Given the description of an element on the screen output the (x, y) to click on. 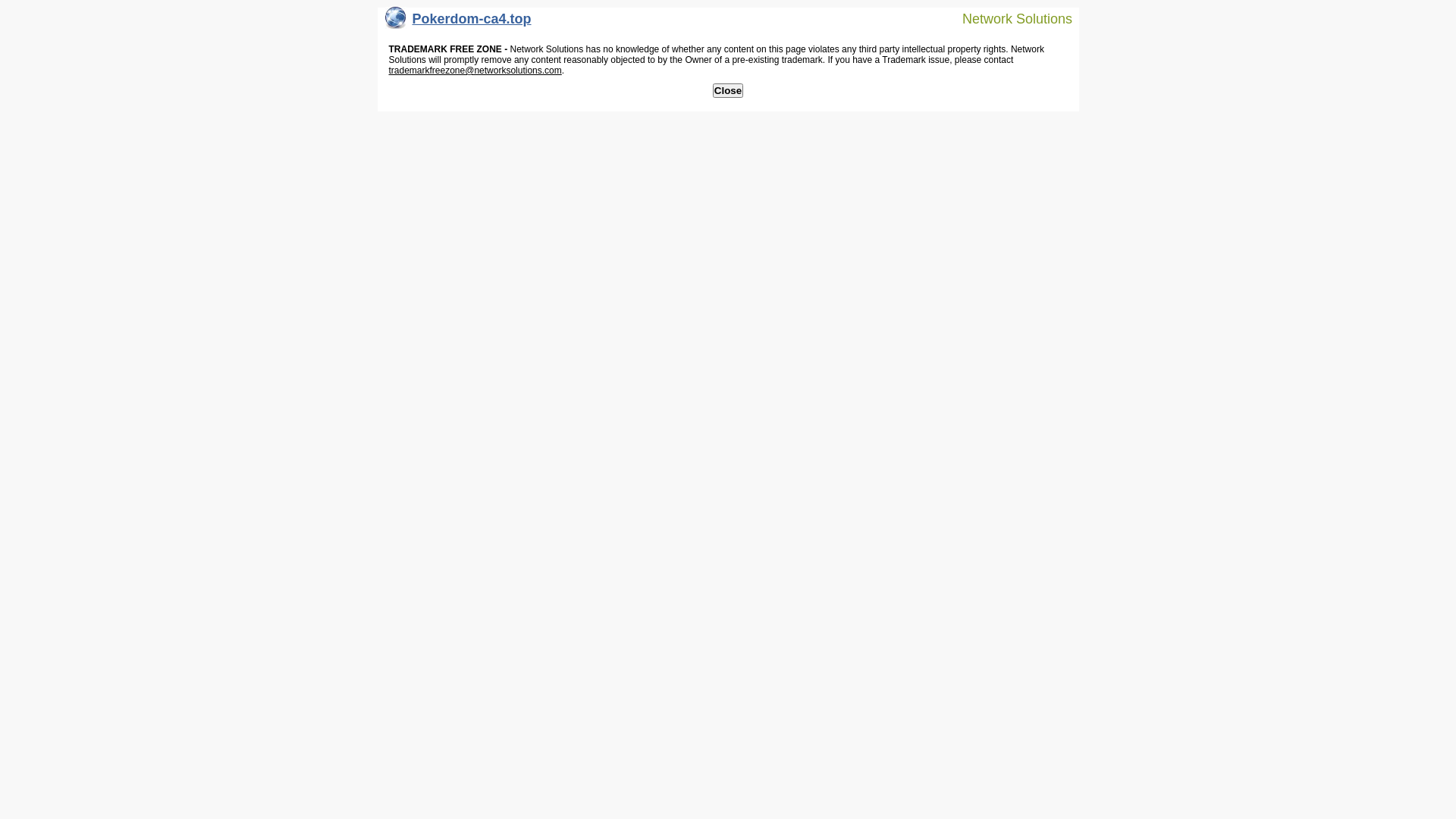
Network Solutions Element type: text (1007, 17)
trademarkfreezone@networksolutions.com Element type: text (474, 70)
Pokerdom-ca4.top Element type: text (458, 21)
Close Element type: text (727, 90)
